Given the description of an element on the screen output the (x, y) to click on. 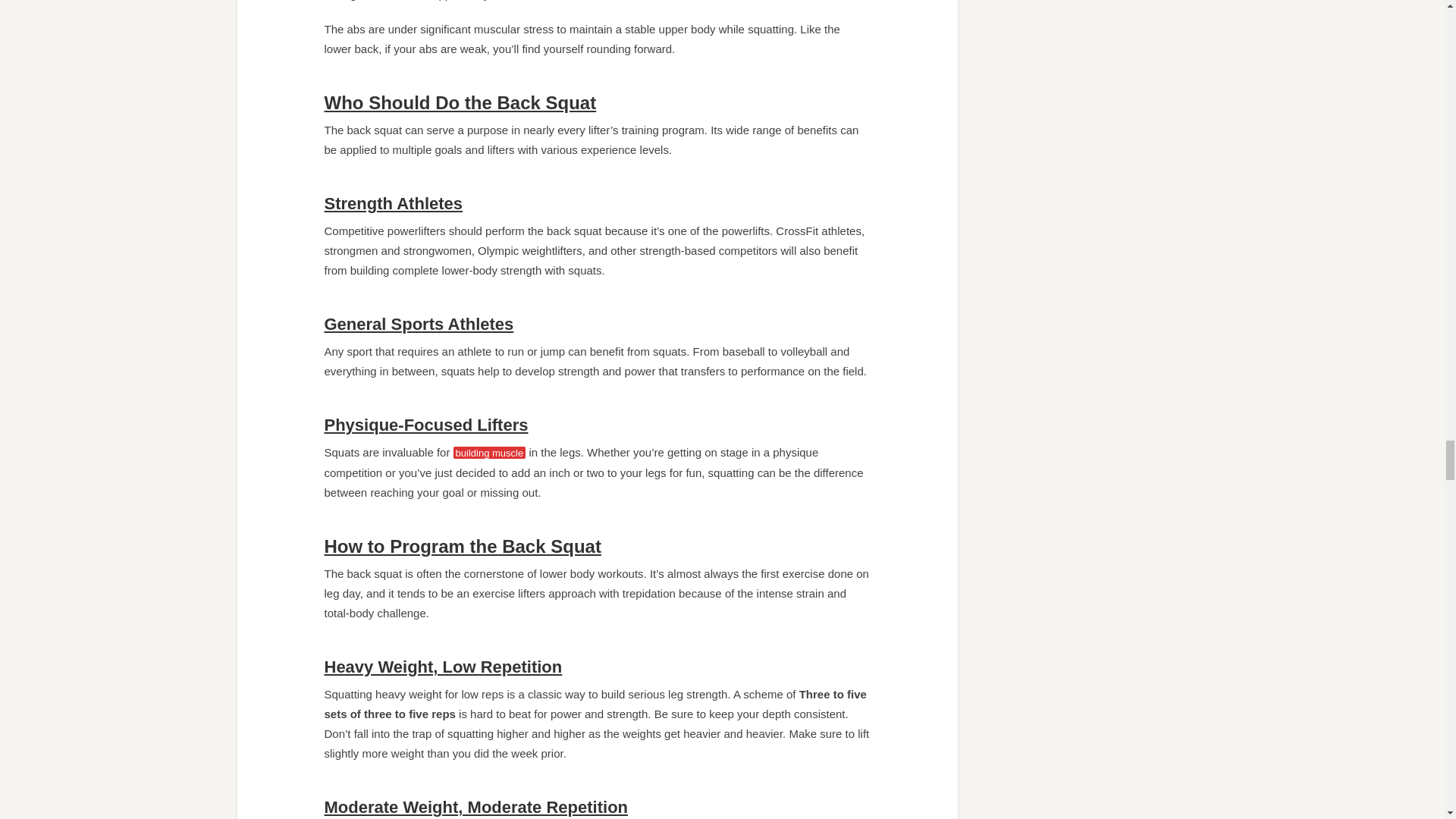
building muscle (488, 452)
